Given the description of an element on the screen output the (x, y) to click on. 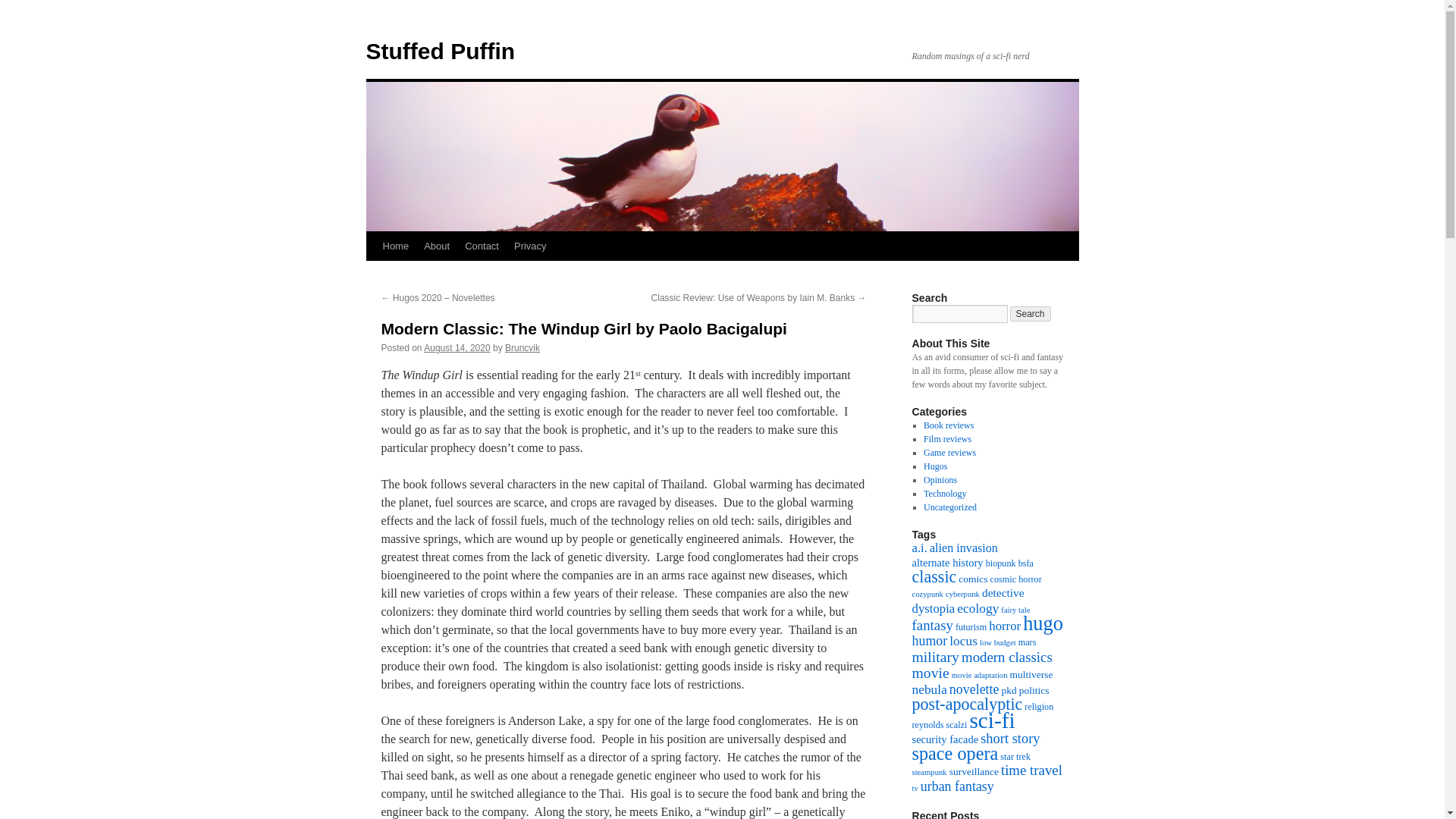
Opinions (939, 480)
bsfa (1025, 562)
Film reviews (947, 439)
cosmic horror (1016, 579)
Search (1030, 313)
Book reviews (948, 425)
Home (395, 246)
cozypunk (926, 593)
Game reviews (949, 452)
Bruncvik (522, 347)
August 14, 2020 (456, 347)
Uncategorized (949, 507)
15:25 (456, 347)
About (436, 246)
View all posts by Bruncvik (522, 347)
